Given the description of an element on the screen output the (x, y) to click on. 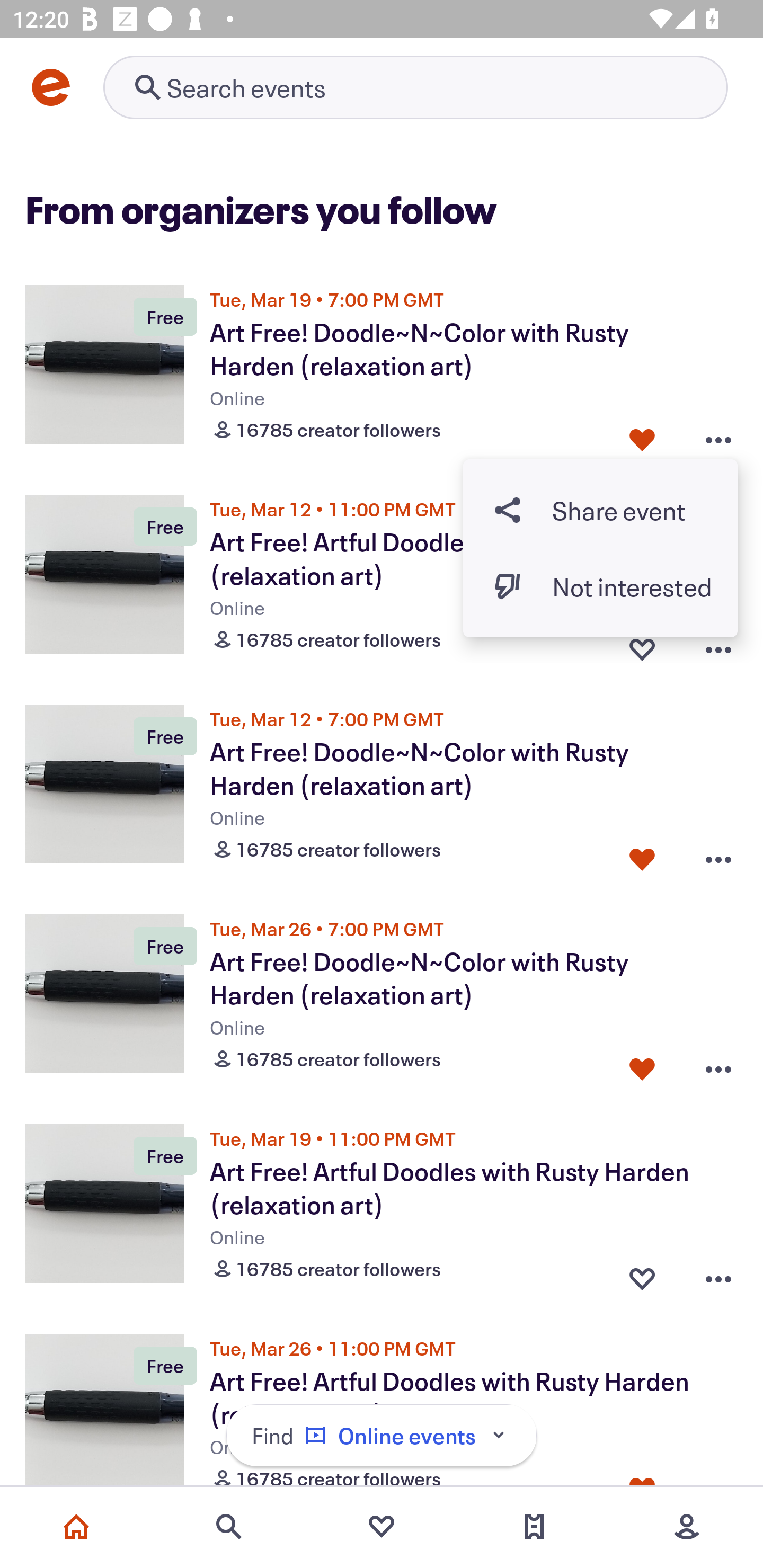
Share button Share event (600, 509)
Dislike event button Not interested (600, 586)
